Given the description of an element on the screen output the (x, y) to click on. 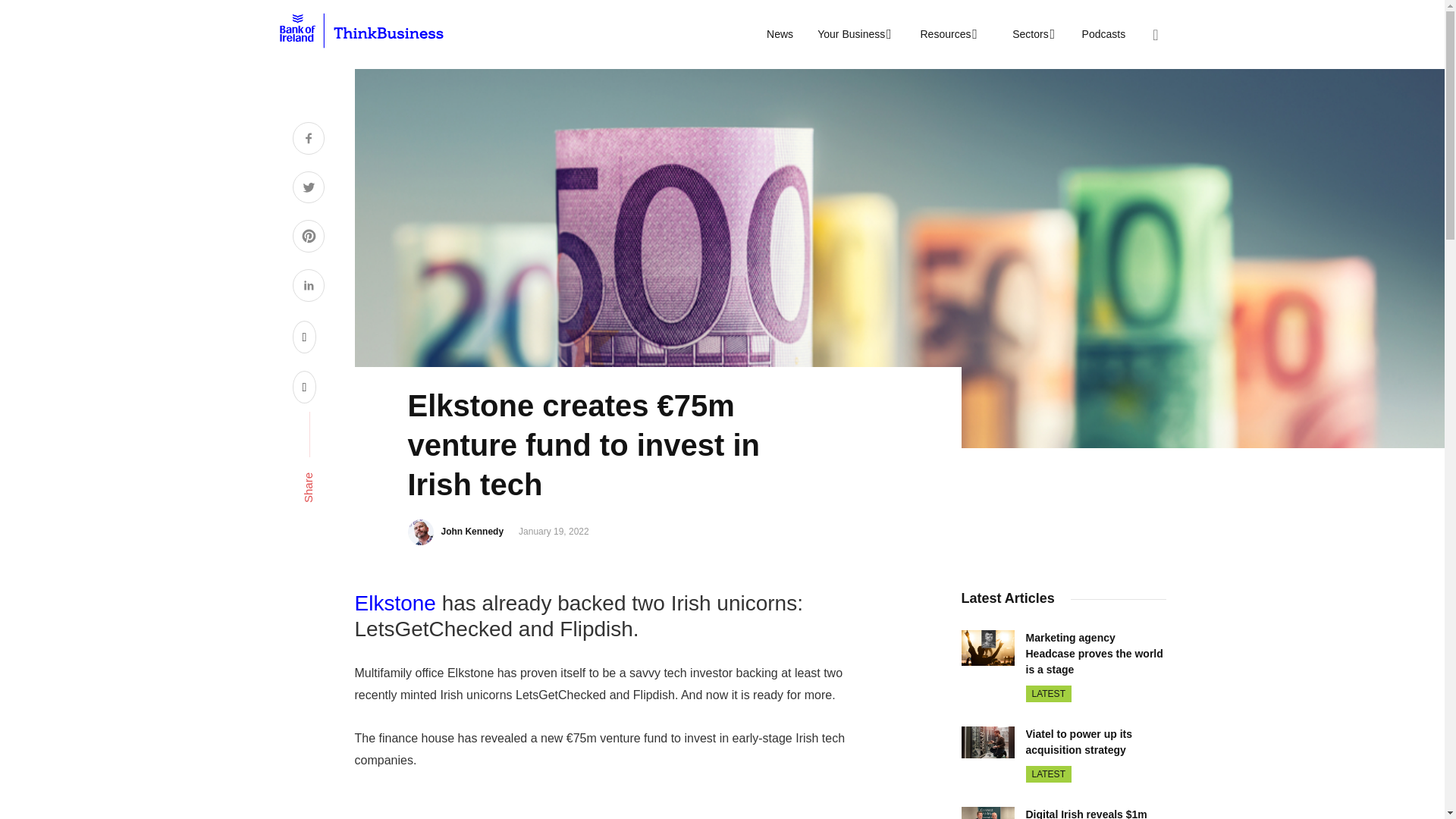
Share on Pinterest (308, 238)
Share on Twitter (308, 189)
January 19, 2022 at 10:49 am (553, 531)
Your Business (852, 34)
Share via email (304, 387)
Share on Facebook (308, 140)
Share on Reddit (304, 337)
Resources (946, 34)
Share on Linkedin (308, 287)
